Given the description of an element on the screen output the (x, y) to click on. 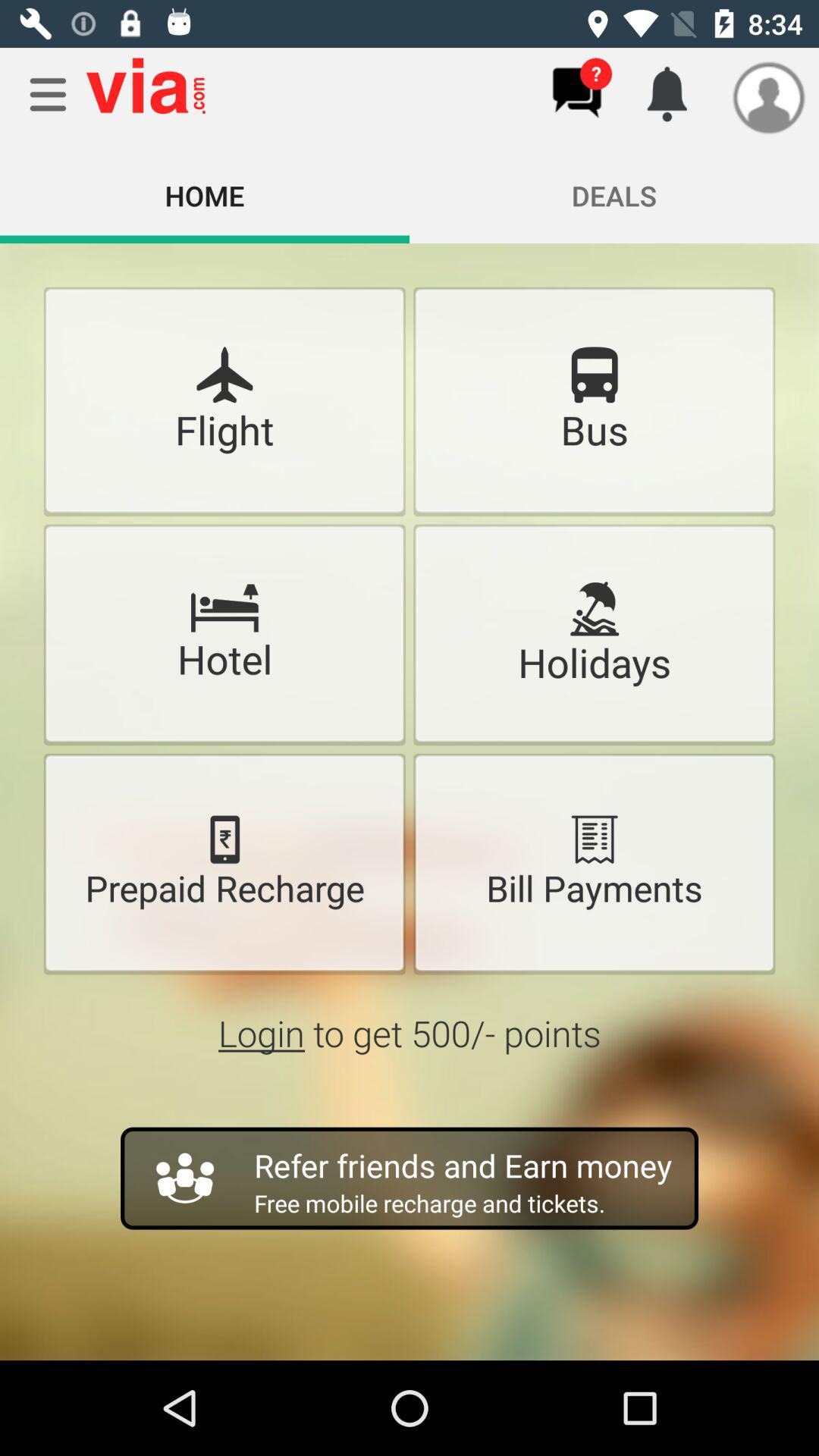
view messages (576, 92)
